Given the description of an element on the screen output the (x, y) to click on. 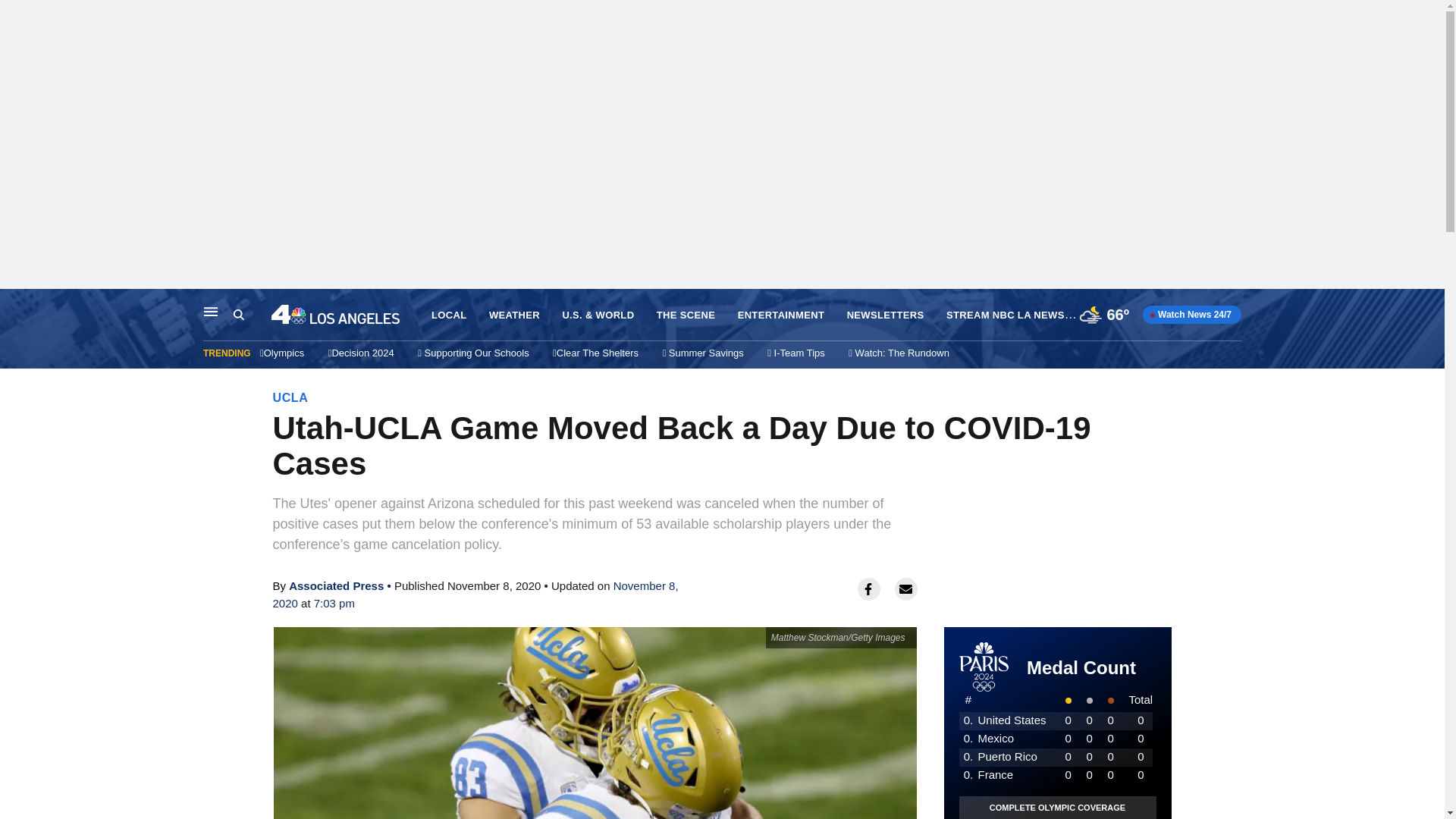
Main Navigation (210, 311)
Search (252, 314)
NEWSLETTERS (885, 315)
LOCAL (447, 315)
Associated Press (336, 585)
Skip to content (16, 304)
WEATHER (514, 315)
THE SCENE (685, 315)
ENTERTAINMENT (781, 315)
UCLA (290, 397)
Search (238, 314)
